Given the description of an element on the screen output the (x, y) to click on. 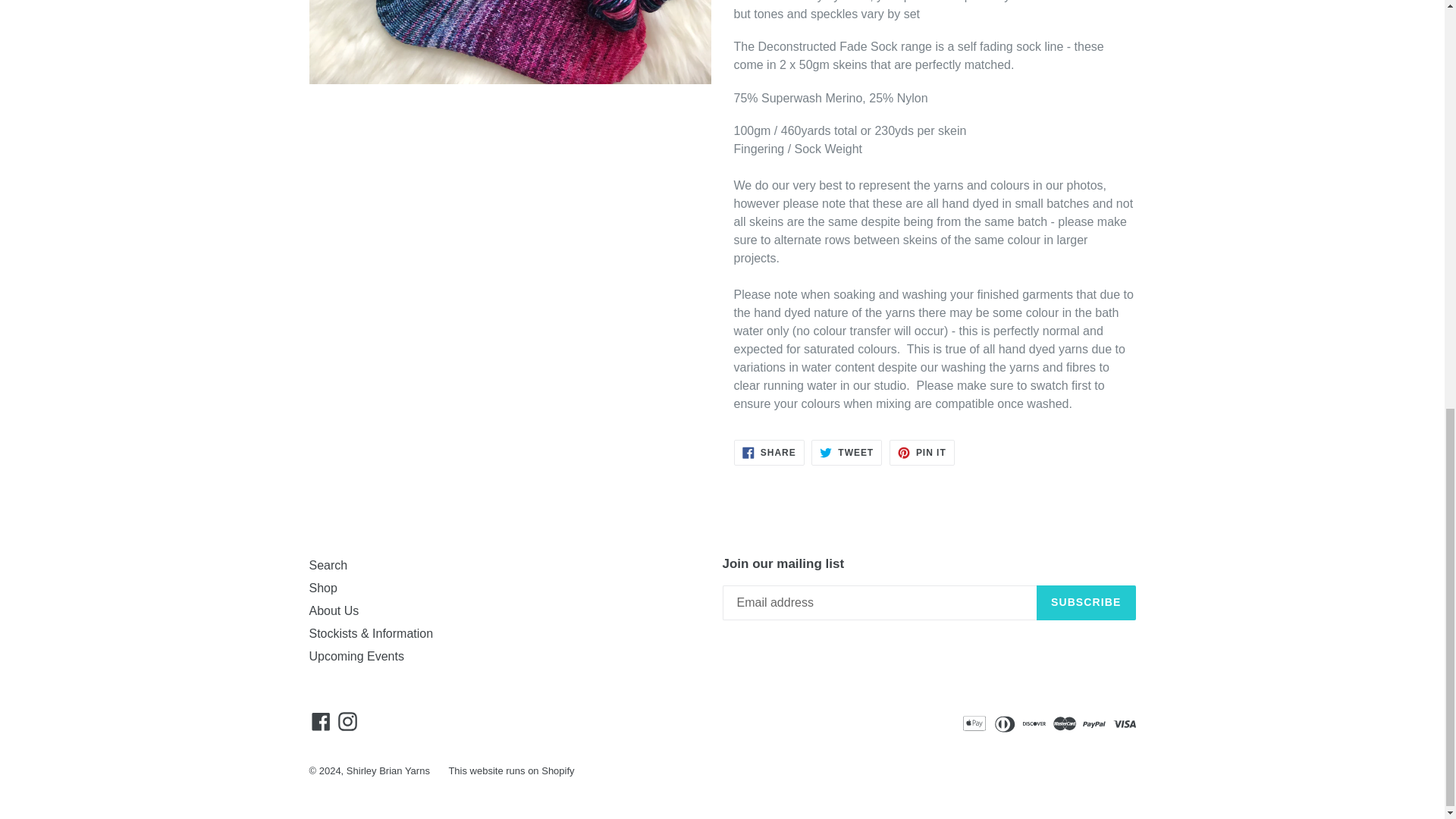
Facebook (320, 721)
Tweet on Twitter (846, 452)
Shop (322, 587)
Pin on Pinterest (922, 452)
SUBSCRIBE (1085, 602)
Shirley Brian Yarns on Facebook (320, 721)
Shirley Brian Yarns on Instagram (922, 452)
Search (347, 721)
Share on Facebook (846, 452)
Instagram (327, 564)
Shirley Brian Yarns (769, 452)
About Us (769, 452)
